Given the description of an element on the screen output the (x, y) to click on. 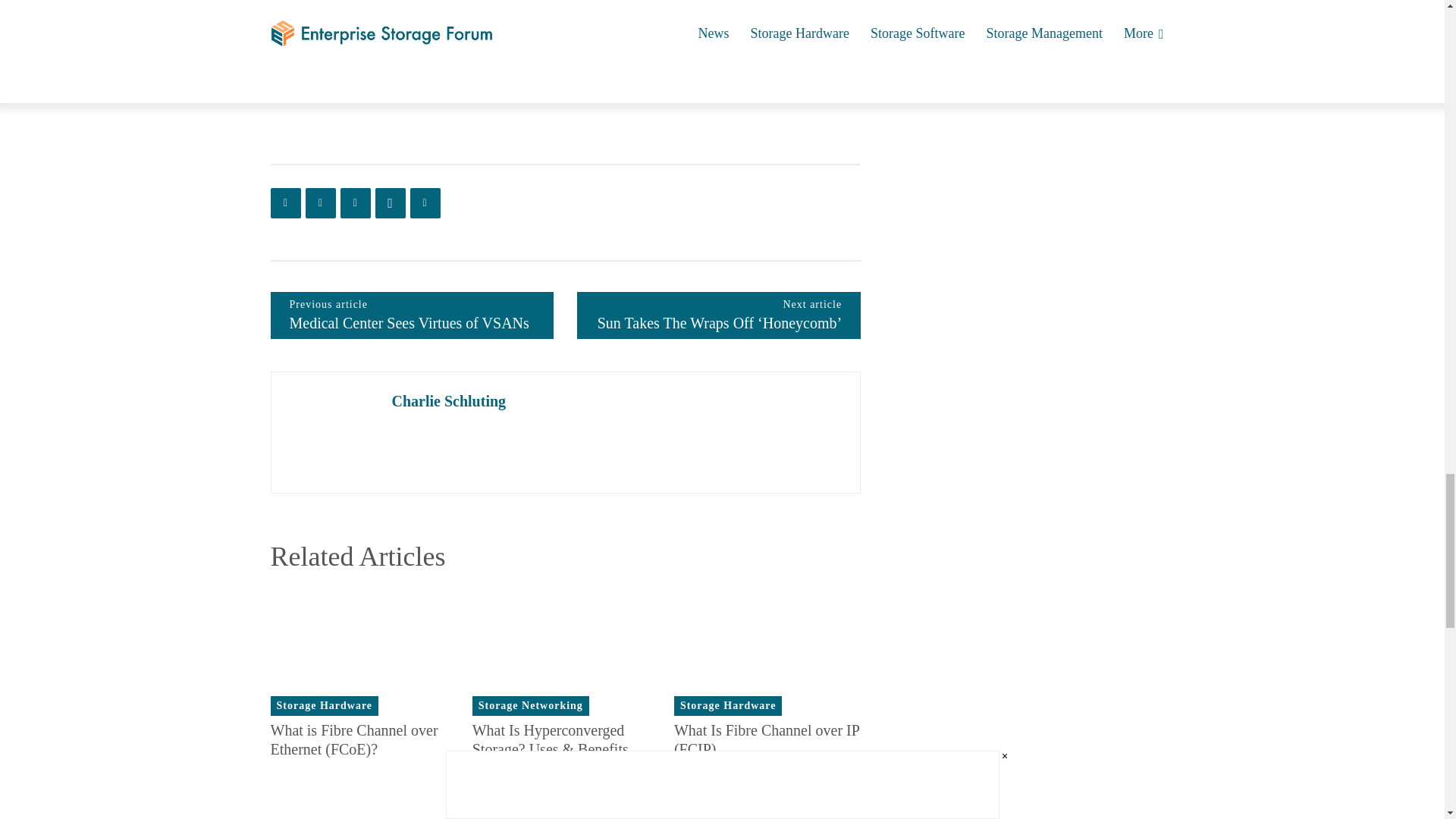
Enterprise Networking Planet (456, 82)
Facebook (284, 203)
Storage Basics (552, 31)
ReddIt (424, 203)
Twitter (319, 203)
Medical Center Sees Virtues of VSANs (409, 322)
WhatsApp (389, 203)
Linkedin (354, 203)
Charlie Schluting (330, 432)
